Given the description of an element on the screen output the (x, y) to click on. 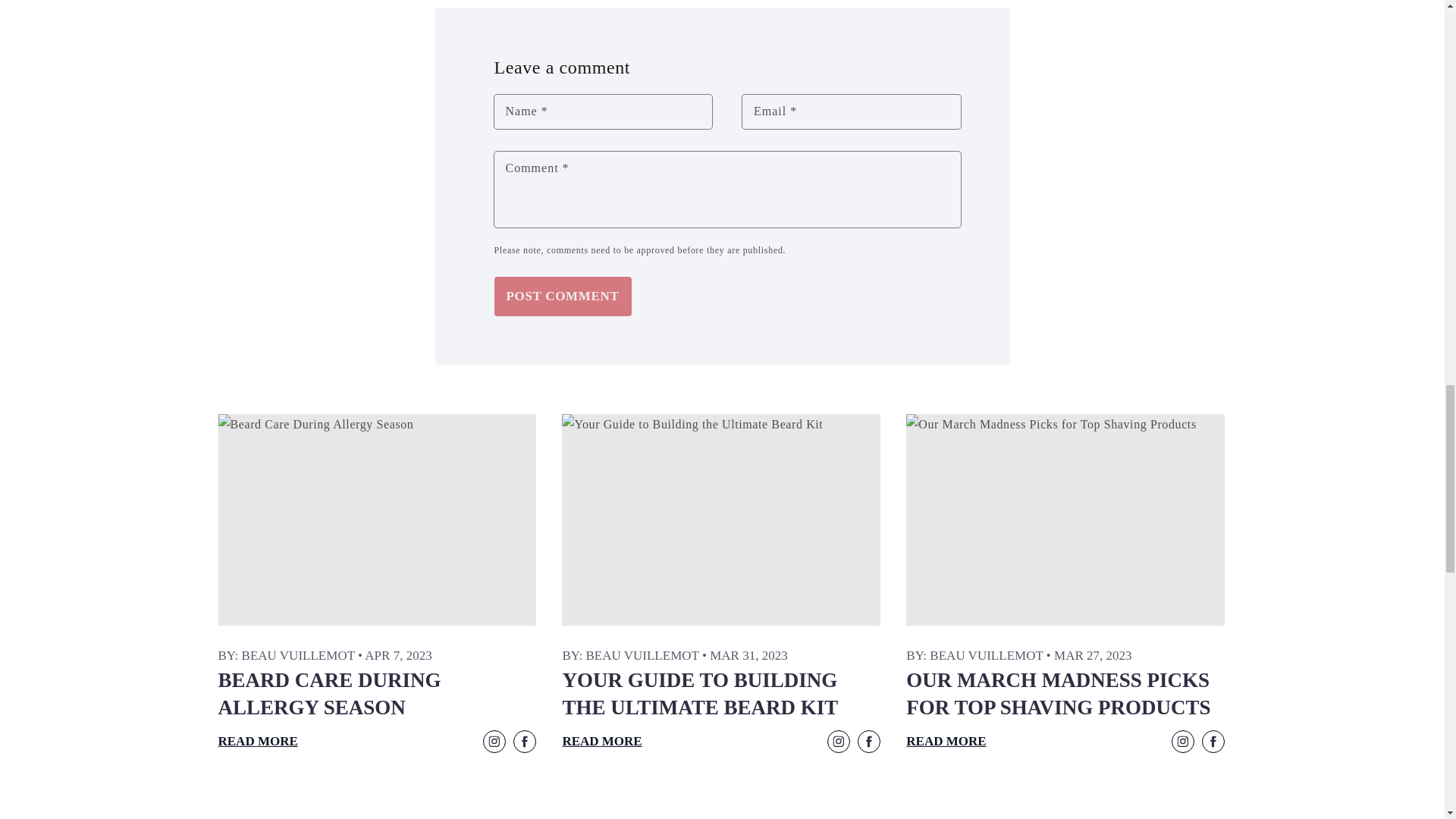
Facebook (1212, 740)
Twitter (838, 740)
Facebook (523, 740)
Facebook (869, 740)
Twitter (493, 740)
Twitter (1182, 740)
Post comment (563, 296)
